Given the description of an element on the screen output the (x, y) to click on. 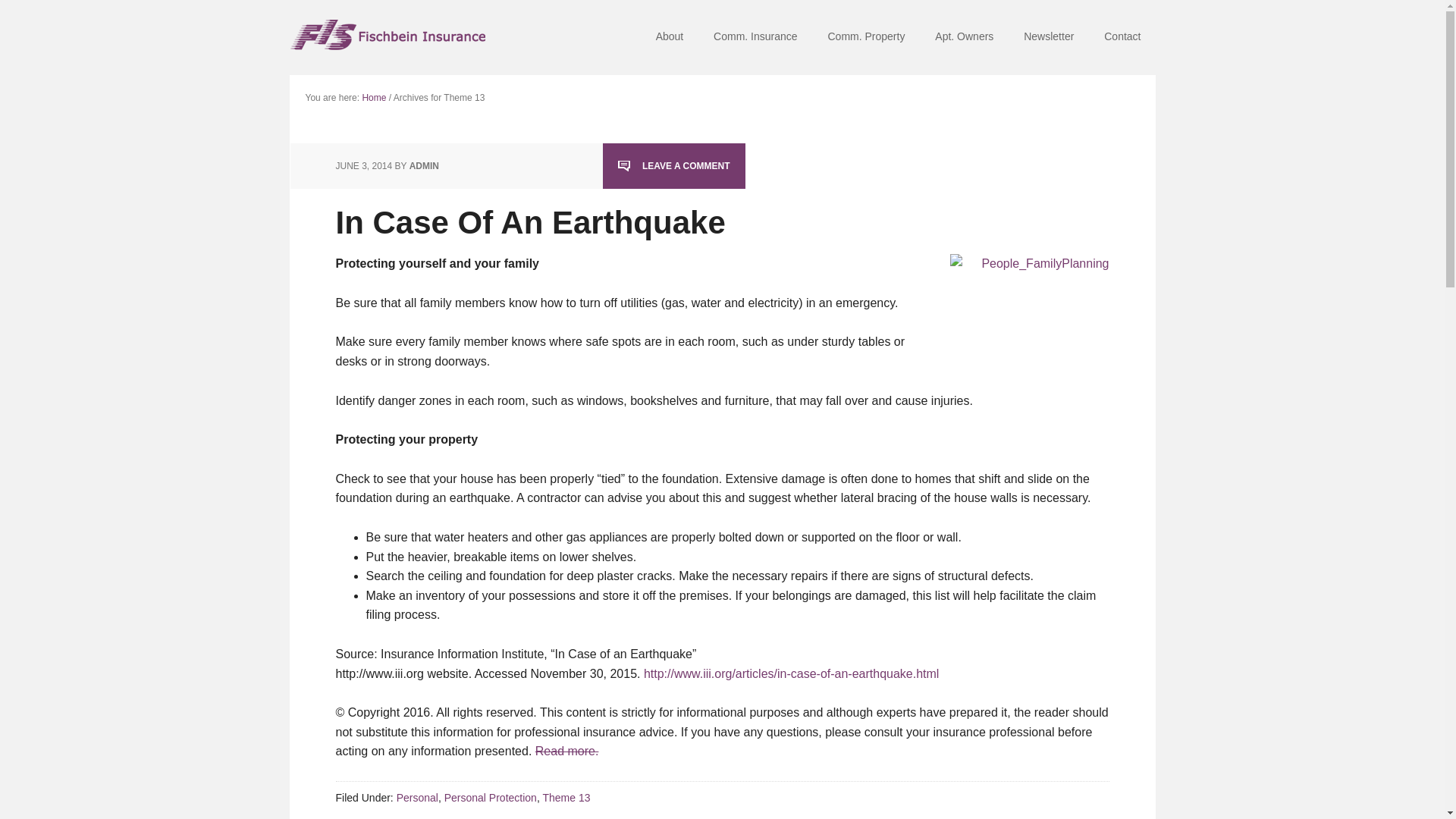
Theme 13 (565, 797)
Home (373, 97)
Personal (417, 797)
Personal Protection (490, 797)
Comm. Property (865, 37)
Fischbein Insurance (387, 38)
Apt. Owners (964, 37)
ADMIN (424, 165)
In Case Of An Earthquake (529, 222)
Read more. (566, 750)
LEAVE A COMMENT (673, 165)
Comm. Insurance (755, 37)
Newsletter (1048, 37)
